Given the description of an element on the screen output the (x, y) to click on. 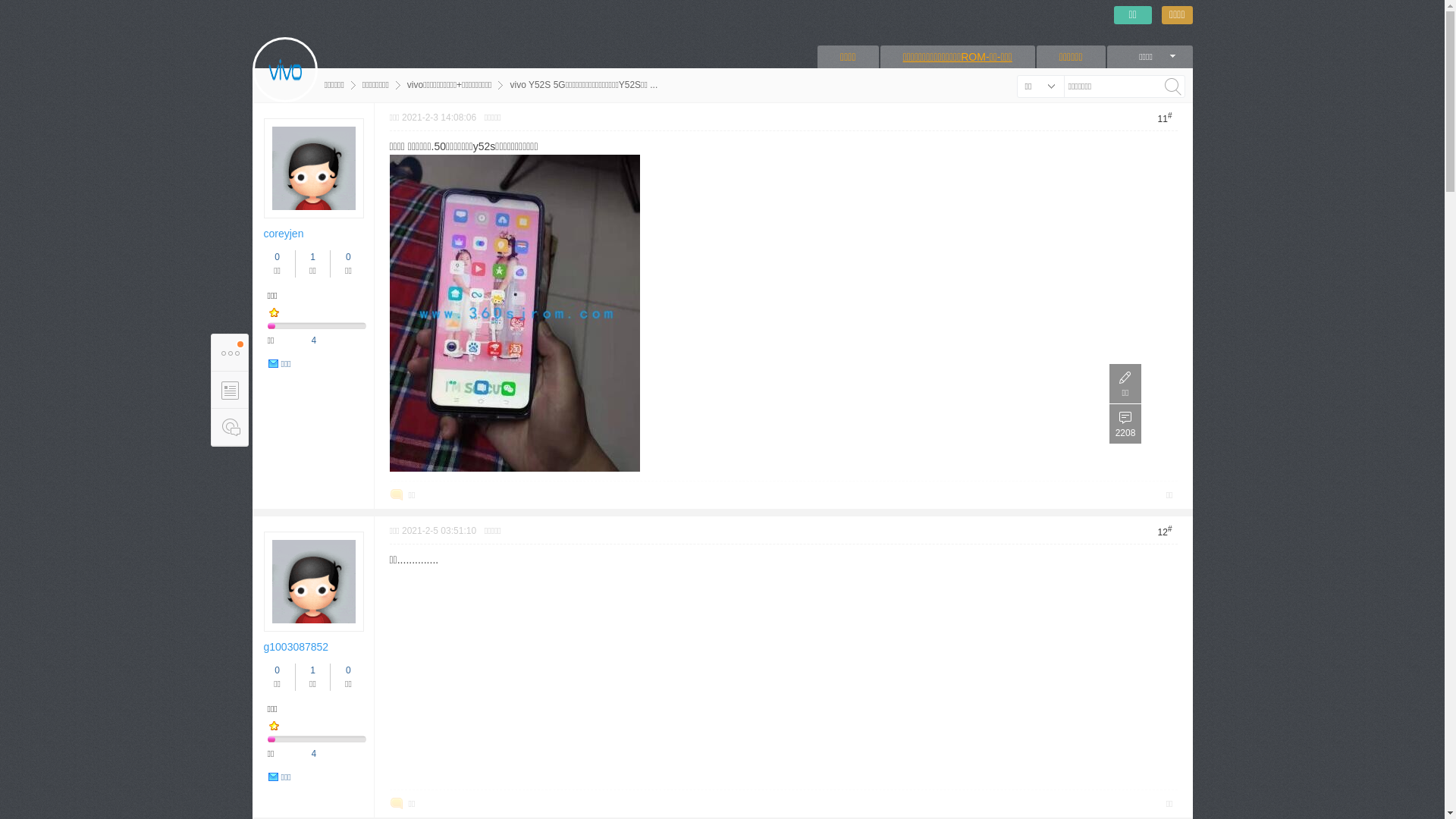
0 Element type: text (276, 670)
true Element type: text (1172, 86)
1 Element type: text (312, 256)
11# Element type: text (1164, 117)
0 Element type: text (276, 256)
g1003087852 Element type: text (296, 646)
0 Element type: text (348, 670)
2208 Element type: text (1124, 423)
0 Element type: text (348, 256)
4 Element type: text (313, 340)
4 Element type: text (313, 753)
12# Element type: text (1164, 530)
1 Element type: text (312, 670)
coreyjen Element type: text (283, 233)
